Given the description of an element on the screen output the (x, y) to click on. 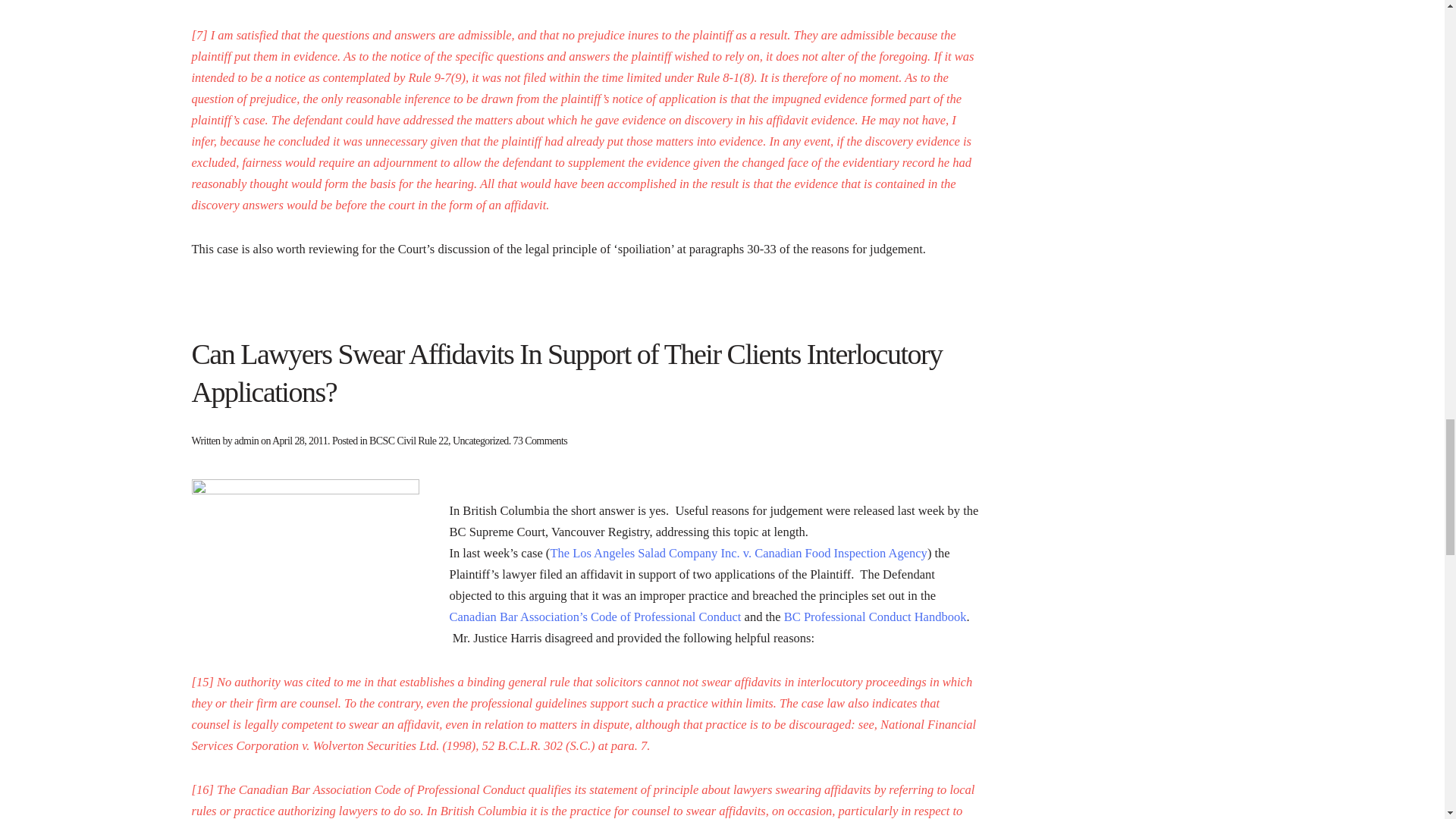
Uncategorized (480, 440)
admin (246, 440)
bc-injury-law-affidavits (304, 554)
BC Professional Conduct Handbook (875, 616)
BCSC Civil Rule 22 (408, 440)
